Given the description of an element on the screen output the (x, y) to click on. 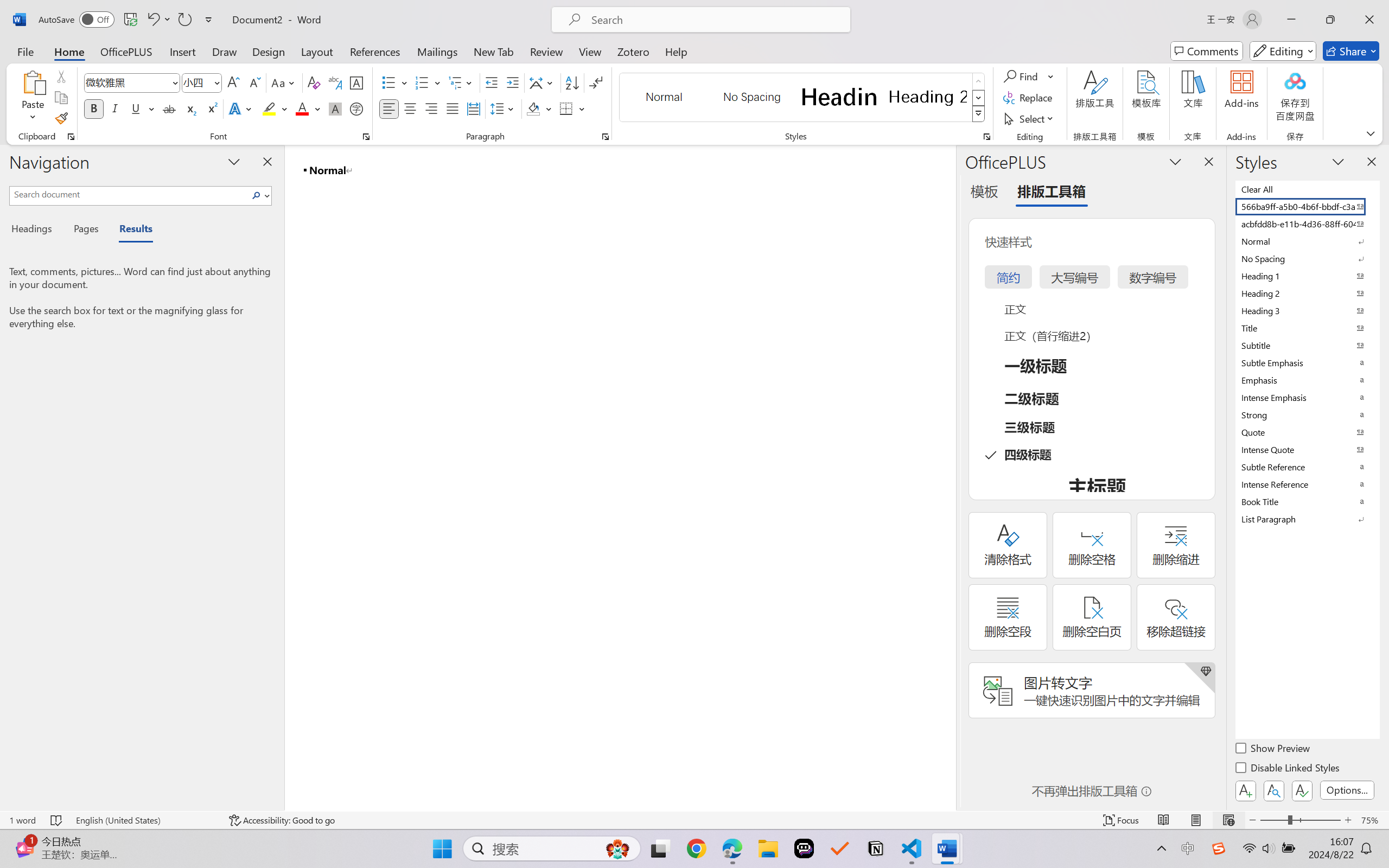
Print Layout (1196, 819)
File Tab (24, 51)
Focus  (1121, 819)
Class: NetUIImage (978, 114)
Emphasis (1306, 379)
Character Shading (334, 108)
Align Left (388, 108)
No Spacing (1306, 258)
References (375, 51)
OfficePLUS (126, 51)
Find (1022, 75)
